Given the description of an element on the screen output the (x, y) to click on. 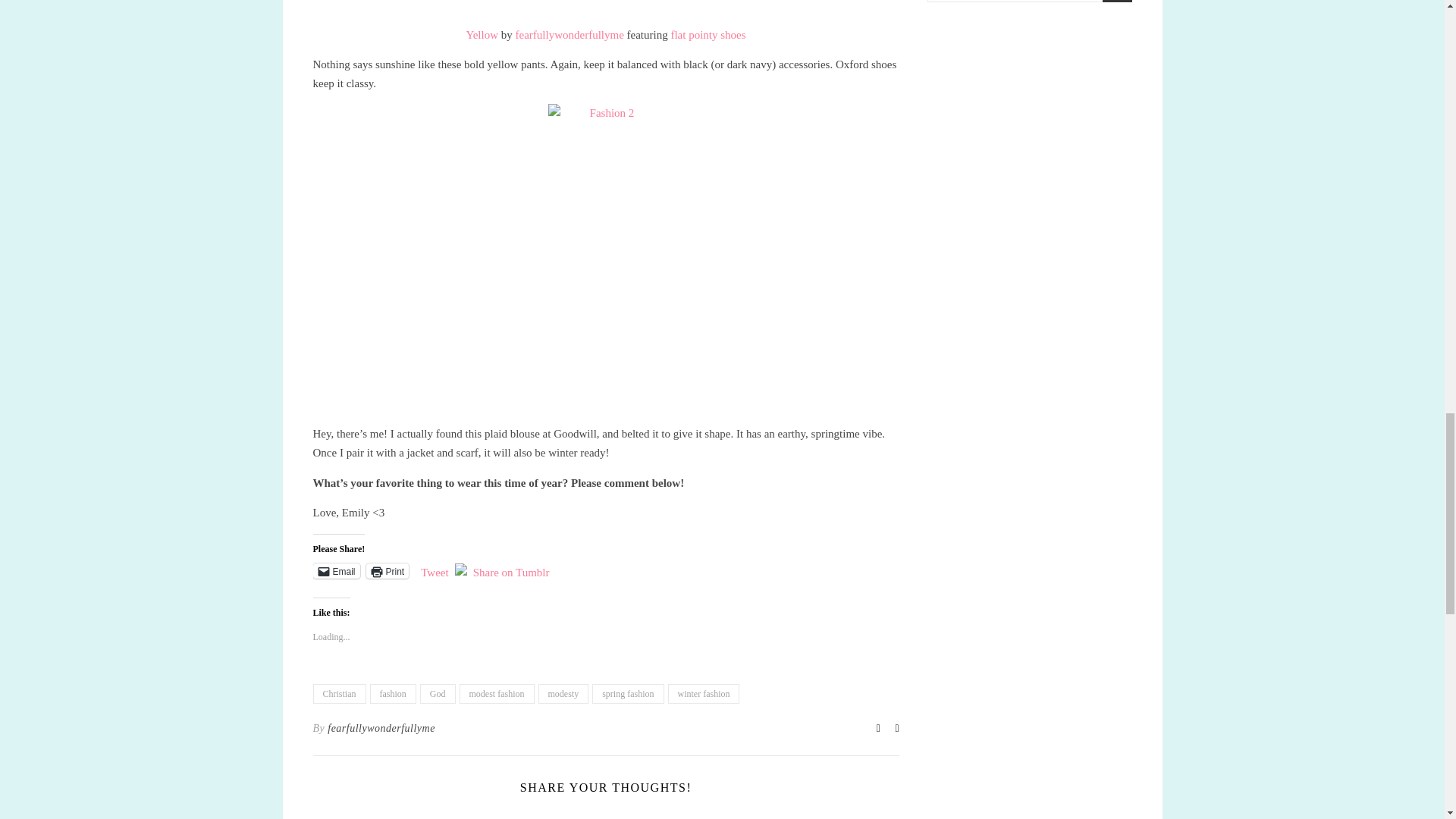
modest fashion (497, 693)
modesty (563, 693)
Click to print (387, 570)
Share on Tumblr (511, 570)
winter fashion (702, 693)
Posts by fearfullywonderfullyme (381, 728)
Yellow (481, 34)
spring fashion (627, 693)
fearfullywonderfullyme (381, 728)
Click to email a link to a friend (336, 570)
